Given the description of an element on the screen output the (x, y) to click on. 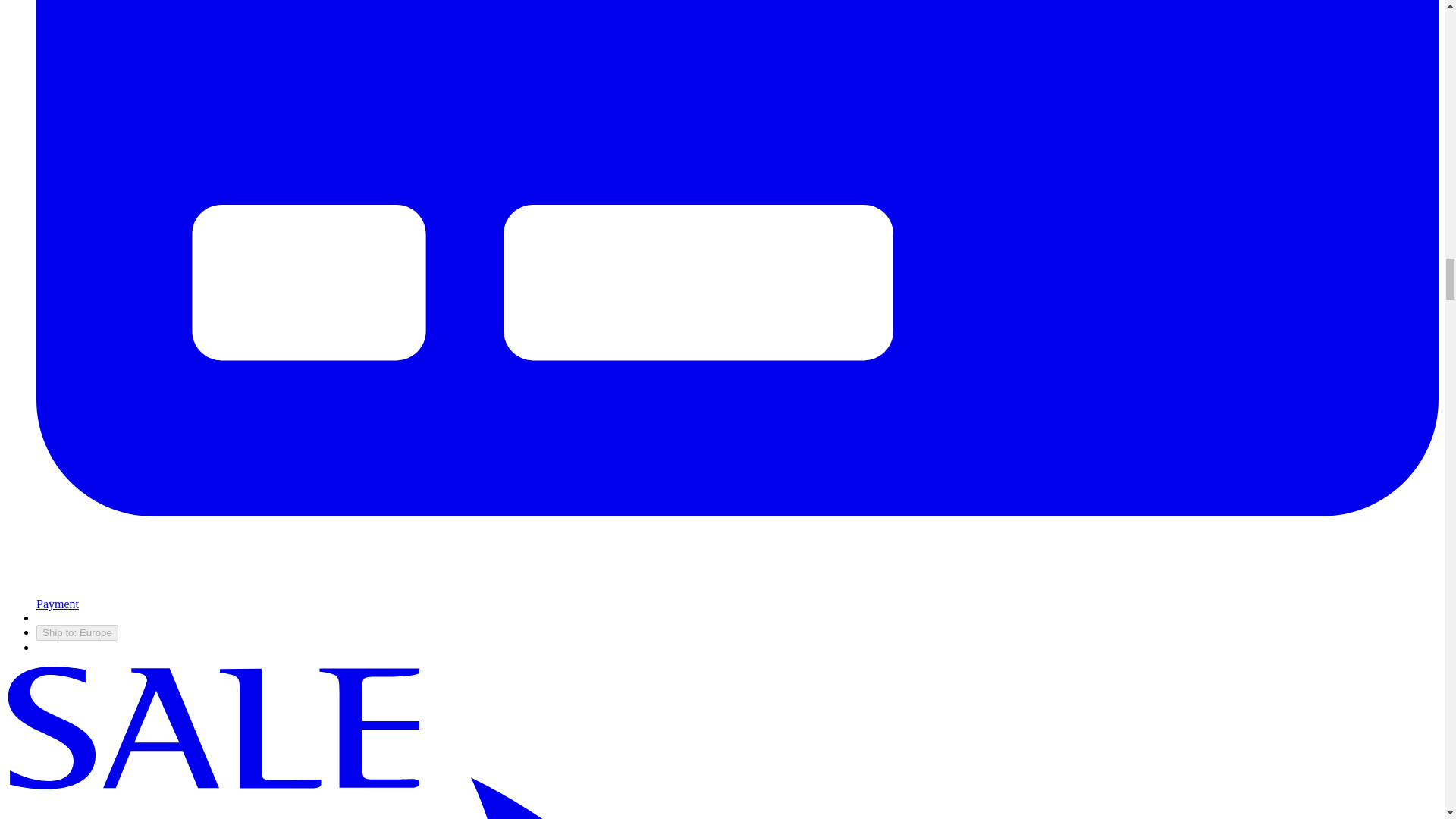
Ship to: Europe (76, 632)
